Given the description of an element on the screen output the (x, y) to click on. 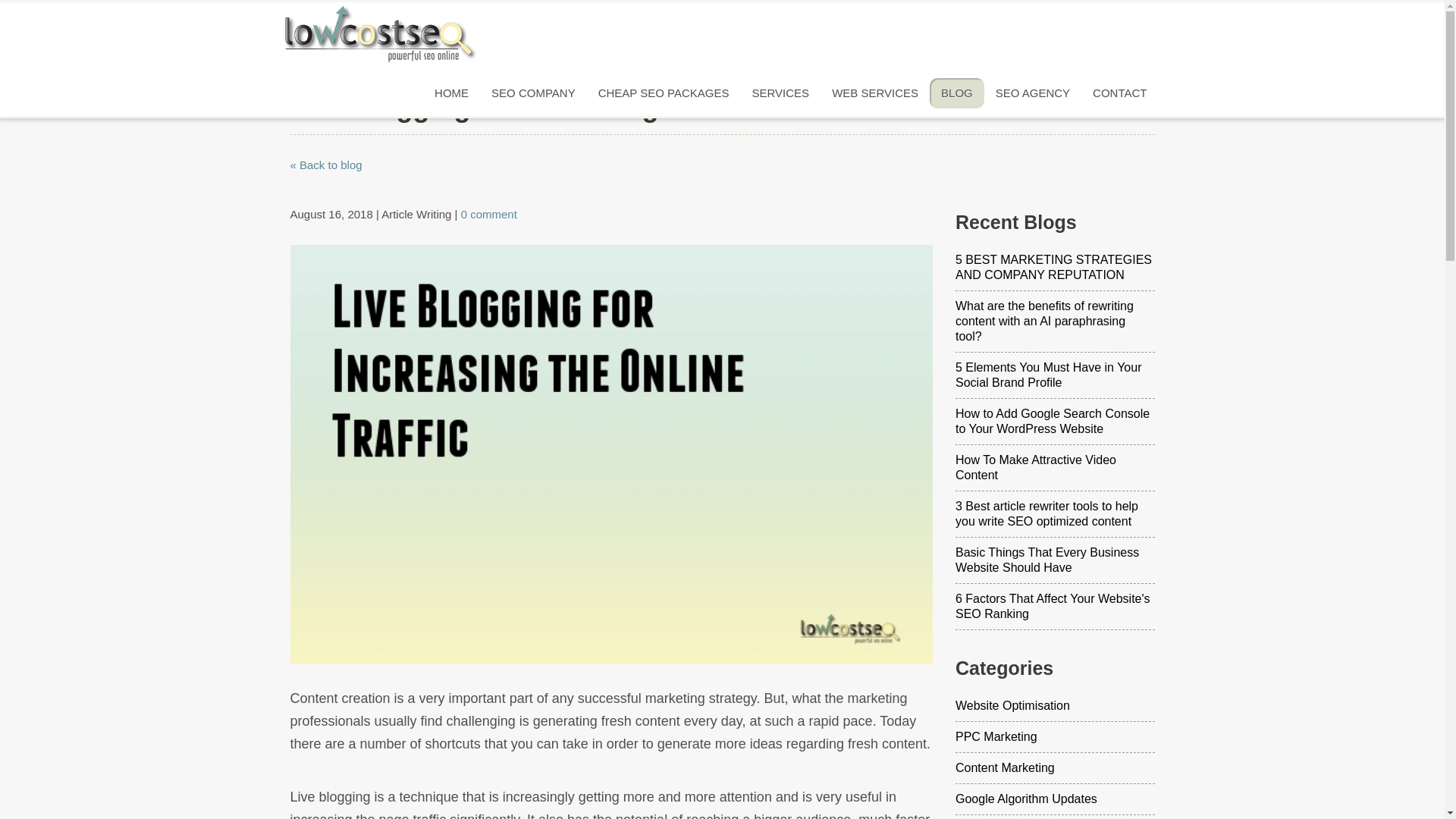
HOME (451, 92)
BLOG (957, 92)
WEB SERVICES (875, 92)
5 BEST MARKETING STRATEGIES AND COMPANY REPUTATION (1054, 267)
CHEAP SEO PACKAGES (663, 92)
SEO AGENCY (1032, 92)
0 comment (488, 214)
CONTACT (1119, 92)
SEO COMPANY (533, 92)
SERVICES (781, 92)
